Given the description of an element on the screen output the (x, y) to click on. 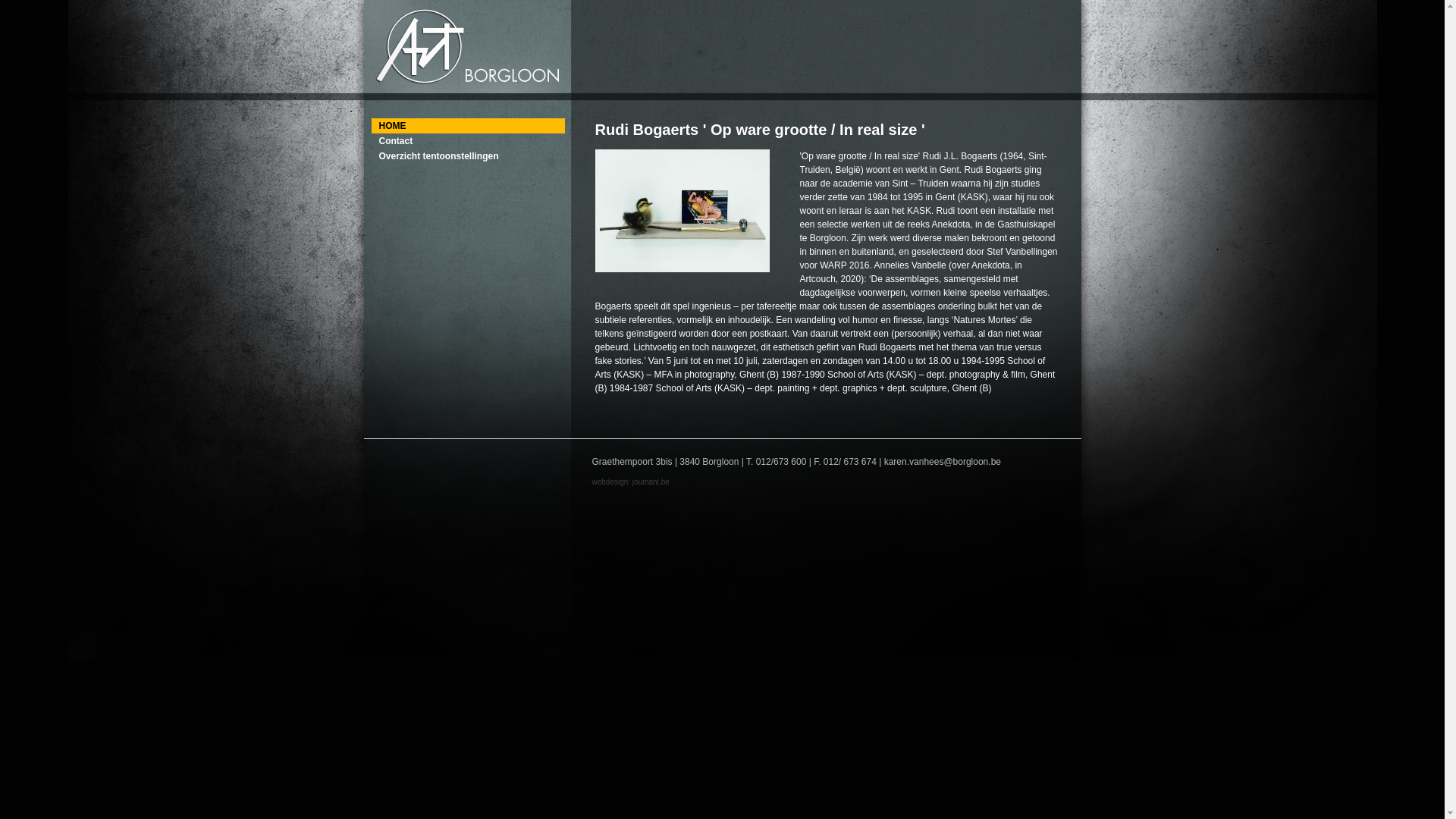
HOME Element type: text (467, 125)
webdesign: joumani.be Element type: text (629, 481)
Overzicht tentoonstellingen Element type: text (467, 155)
Contact Element type: text (467, 140)
karen.vanhees@borgloon.be Element type: text (942, 461)
